Given the description of an element on the screen output the (x, y) to click on. 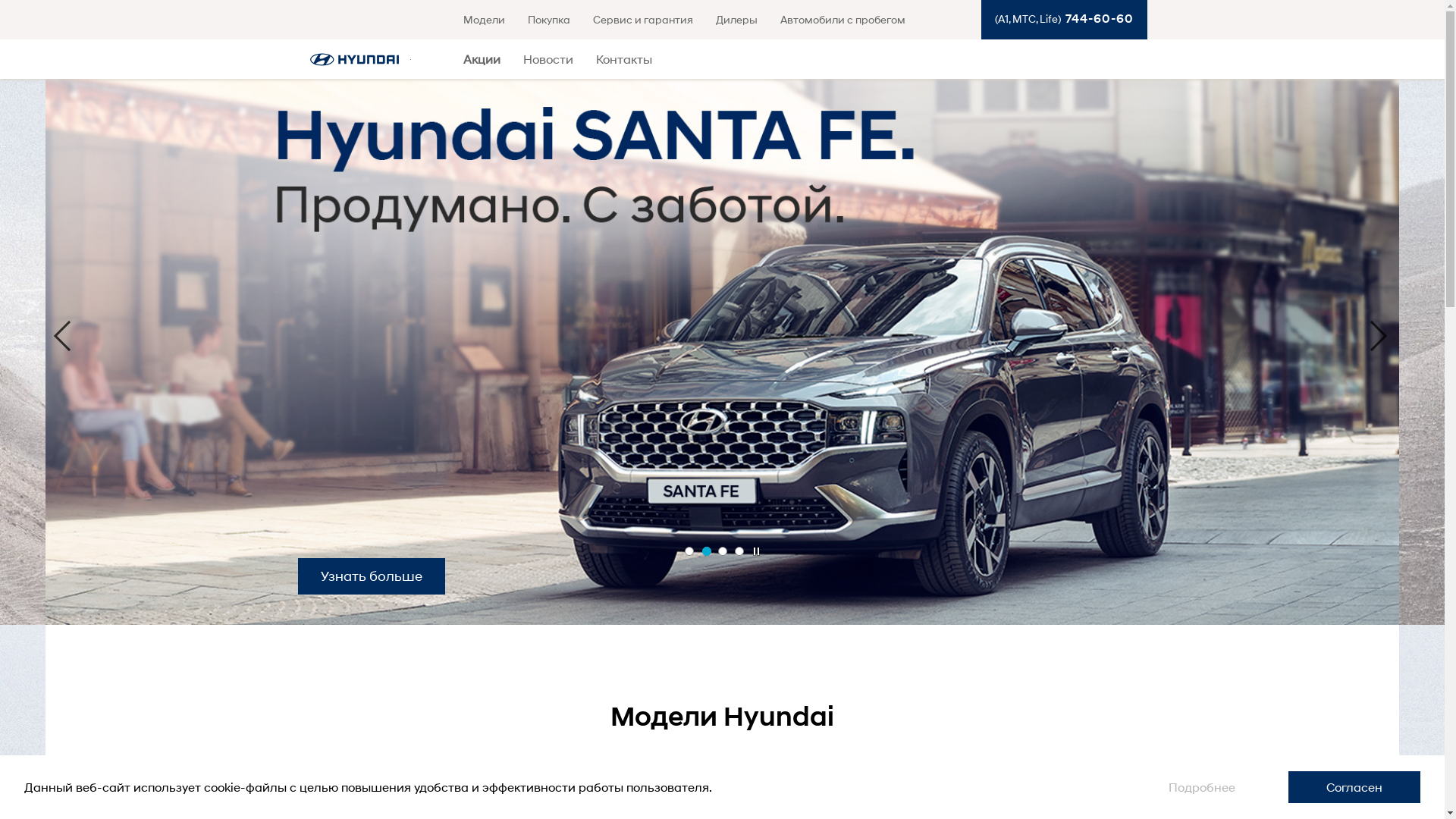
1 Element type: text (688, 550)
2 Element type: text (706, 550)
Previous Element type: text (62, 335)
4 Element type: text (738, 550)
Next Element type: text (1378, 335)
3 Element type: text (721, 550)
744-60-60 Element type: text (1096, 18)
